Given the description of an element on the screen output the (x, y) to click on. 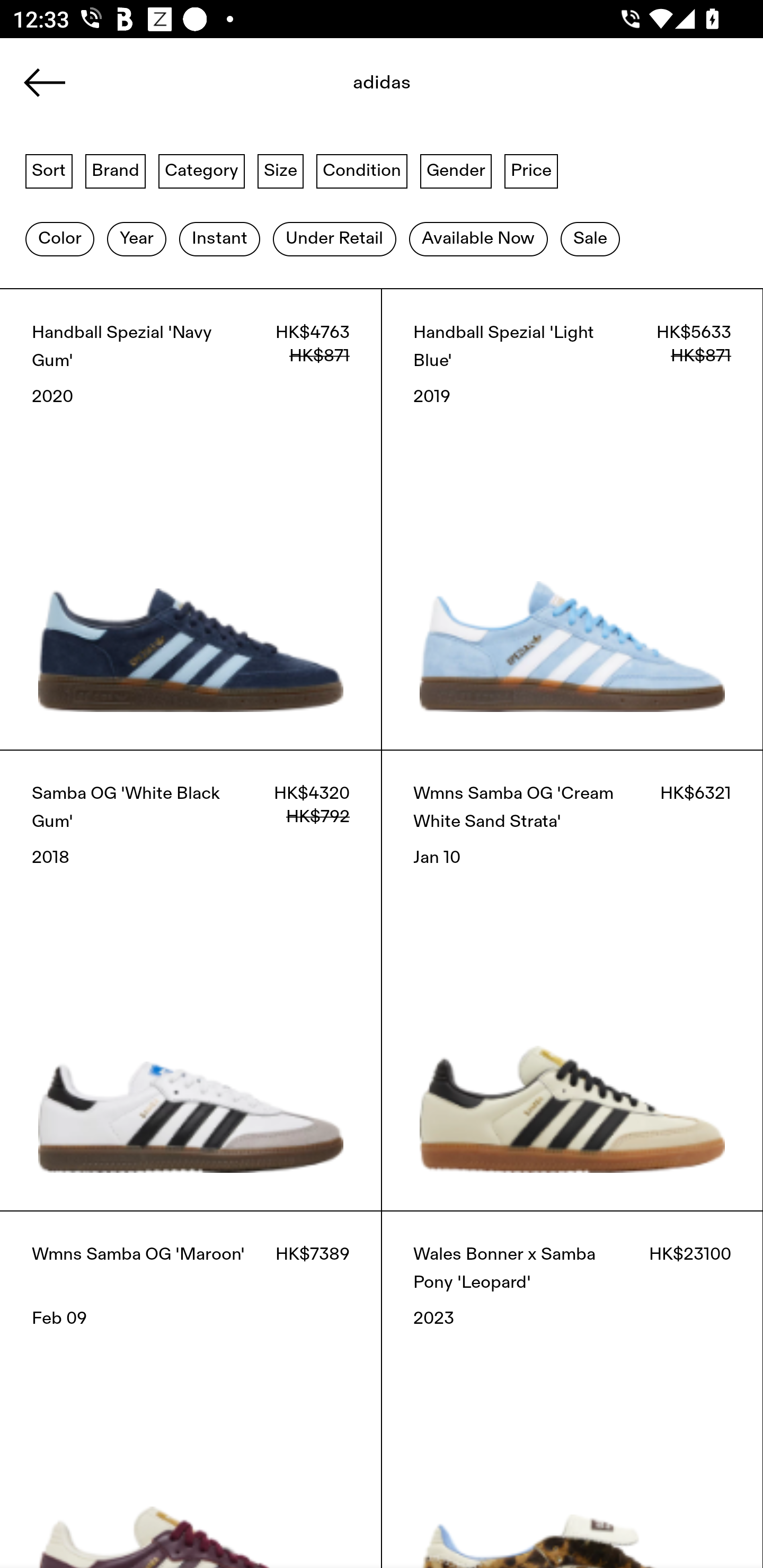
flats (381, 88)
Sort (48, 170)
Brand (115, 170)
Category (201, 170)
Size (280, 170)
Condition (361, 170)
Gender (455, 170)
Price (530, 170)
Color (59, 239)
Year (136, 239)
Instant (219, 239)
Under Retail (334, 239)
Available Now (477, 239)
Sale (589, 239)
Handball Spezial 'Navy Gum' HK$4763 HK$871 2020 (190, 518)
Handball Spezial 'Light Blue' HK$5633 HK$871 2019 (572, 518)
Samba OG 'White Black Gum' HK$4320 HK$792 2018 (190, 979)
Wmns Samba OG 'Maroon' HK$7389 Feb 09 (190, 1389)
Wales Bonner x Samba Pony 'Leopard' HK$23100 2023 (572, 1389)
